Given the description of an element on the screen output the (x, y) to click on. 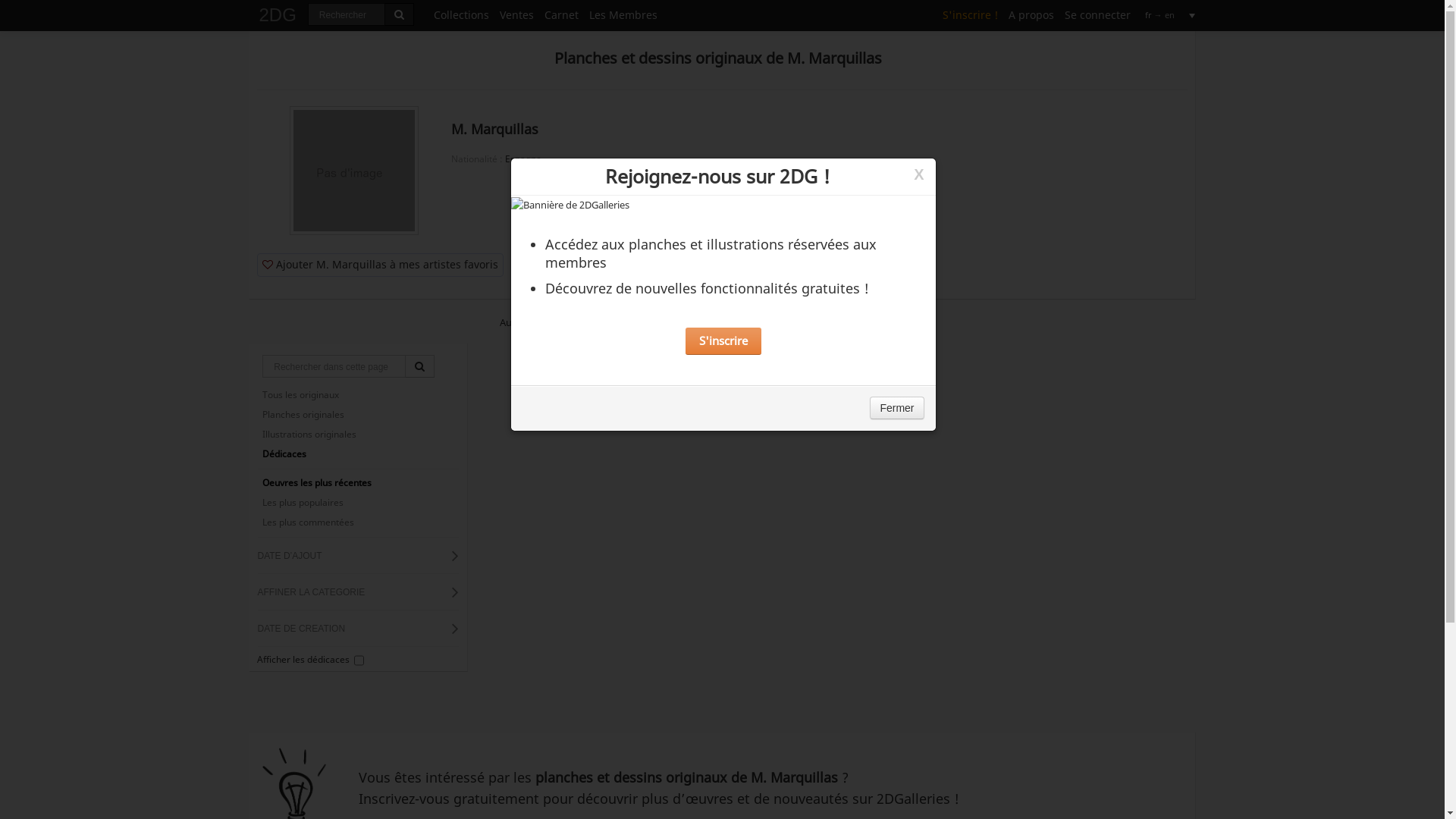
A propos Element type: text (1030, 14)
Les Membres Element type: text (622, 14)
Les plus populaires Element type: text (357, 502)
Carnet Element type: text (561, 14)
Illustrations originales Element type: text (357, 434)
S'inscrire ! Element type: text (970, 14)
Fermer Element type: text (896, 407)
DATE DE CREATION Element type: text (357, 628)
Rechercher des originaux dans cette page Element type: hover (419, 365)
AFFINER LA CATEGORIE Element type: text (357, 591)
photo_placeholder Element type: hover (353, 170)
Rechercher sur tout le site Element type: hover (399, 14)
Tous les originaux Element type: text (357, 394)
Ventes Element type: text (516, 14)
S'inscrire Element type: text (723, 340)
X Element type: text (918, 174)
Collections Element type: text (461, 14)
Planches originales Element type: text (357, 414)
2DG Element type: text (277, 11)
Se connecter Element type: text (1096, 14)
